Given the description of an element on the screen output the (x, y) to click on. 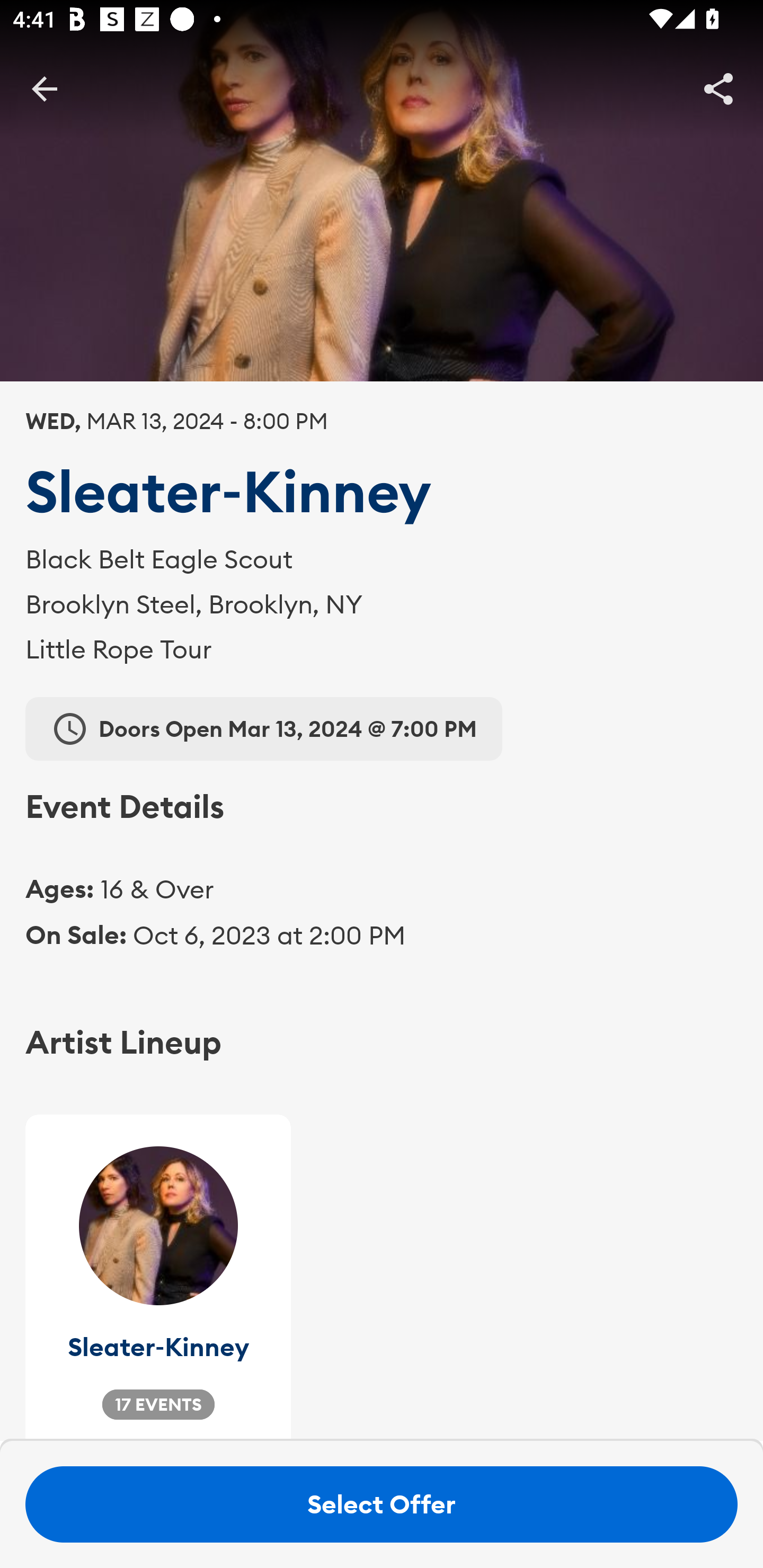
BackButton (44, 88)
Share (718, 88)
Sleater‐Kinney 17 EVENTS (157, 1277)
Select Offer (381, 1504)
